Given the description of an element on the screen output the (x, y) to click on. 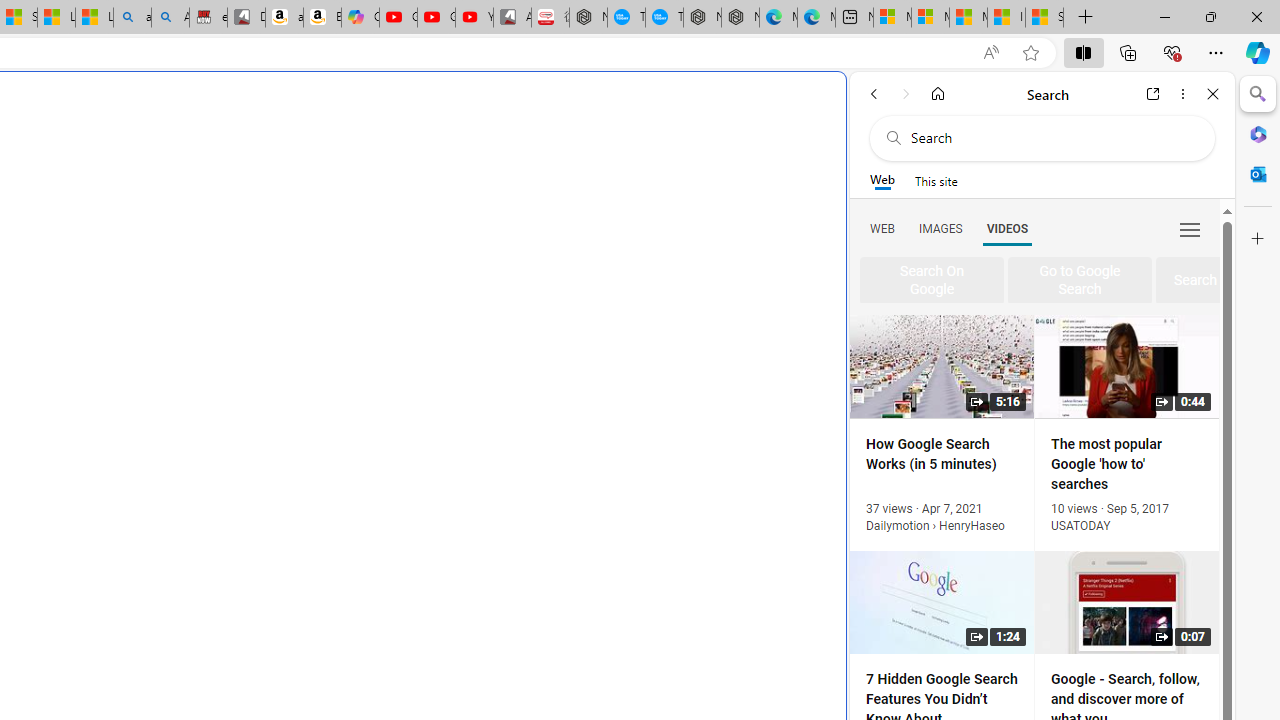
Amazon Echo Dot PNG - Search Images (170, 17)
I Gained 20 Pounds of Muscle in 30 Days! | Watch (1006, 17)
All Cubot phones (512, 17)
Nordace - Nordace has arrived Hong Kong (740, 17)
Customize (1258, 239)
Nordace - My Account (587, 17)
YouTube Kids - An App Created for Kids to Explore Content (473, 17)
Home (938, 93)
Copilot (359, 17)
This site scope (936, 180)
